Given the description of an element on the screen output the (x, y) to click on. 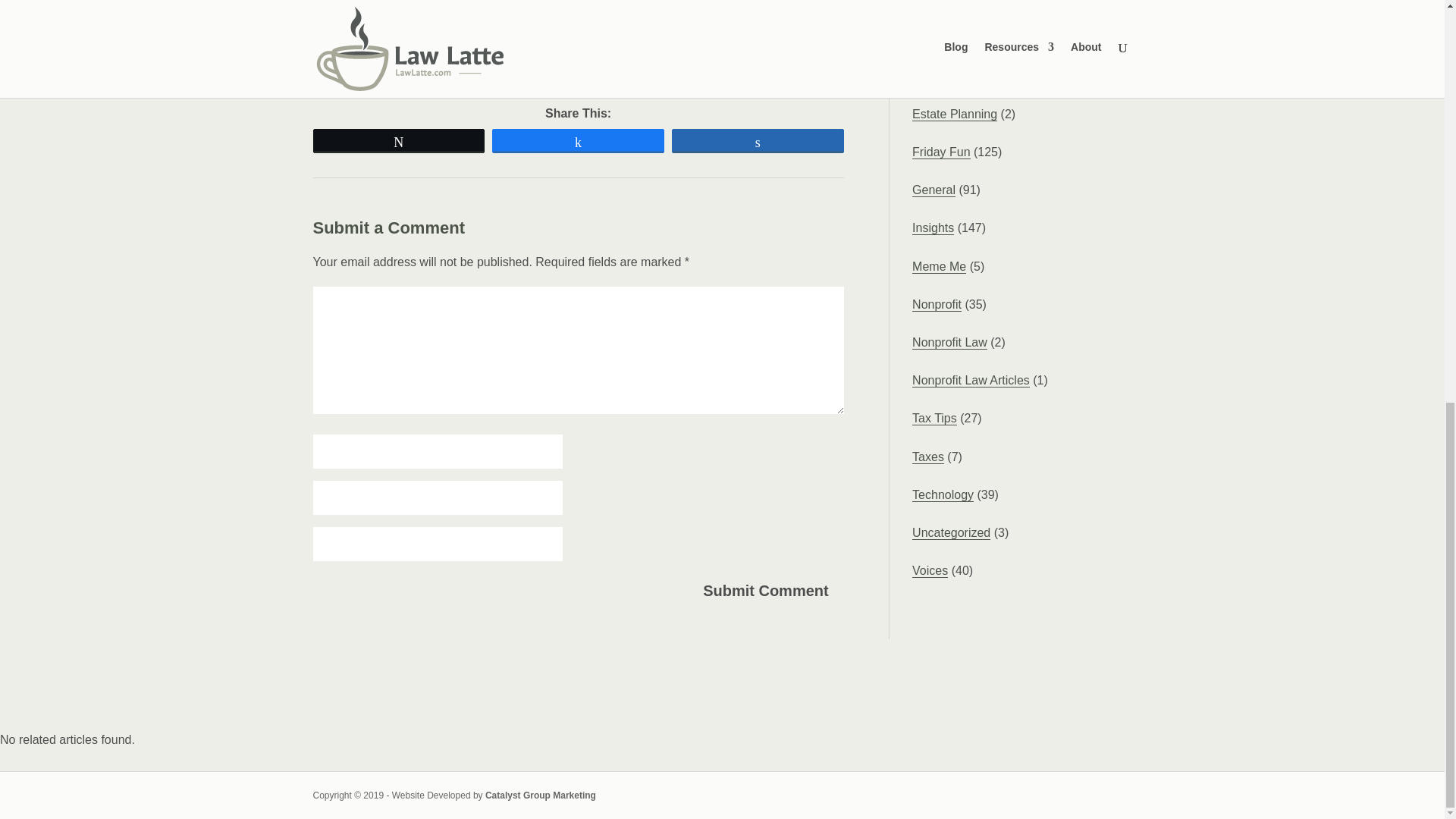
Agriculture Law (953, 3)
Submit Comment (765, 590)
Friday Fun (940, 151)
Estate Planning (954, 114)
Agriculture Law Articles (975, 38)
Take the Quiz (571, 65)
Coffee Break (947, 76)
